Given the description of an element on the screen output the (x, y) to click on. 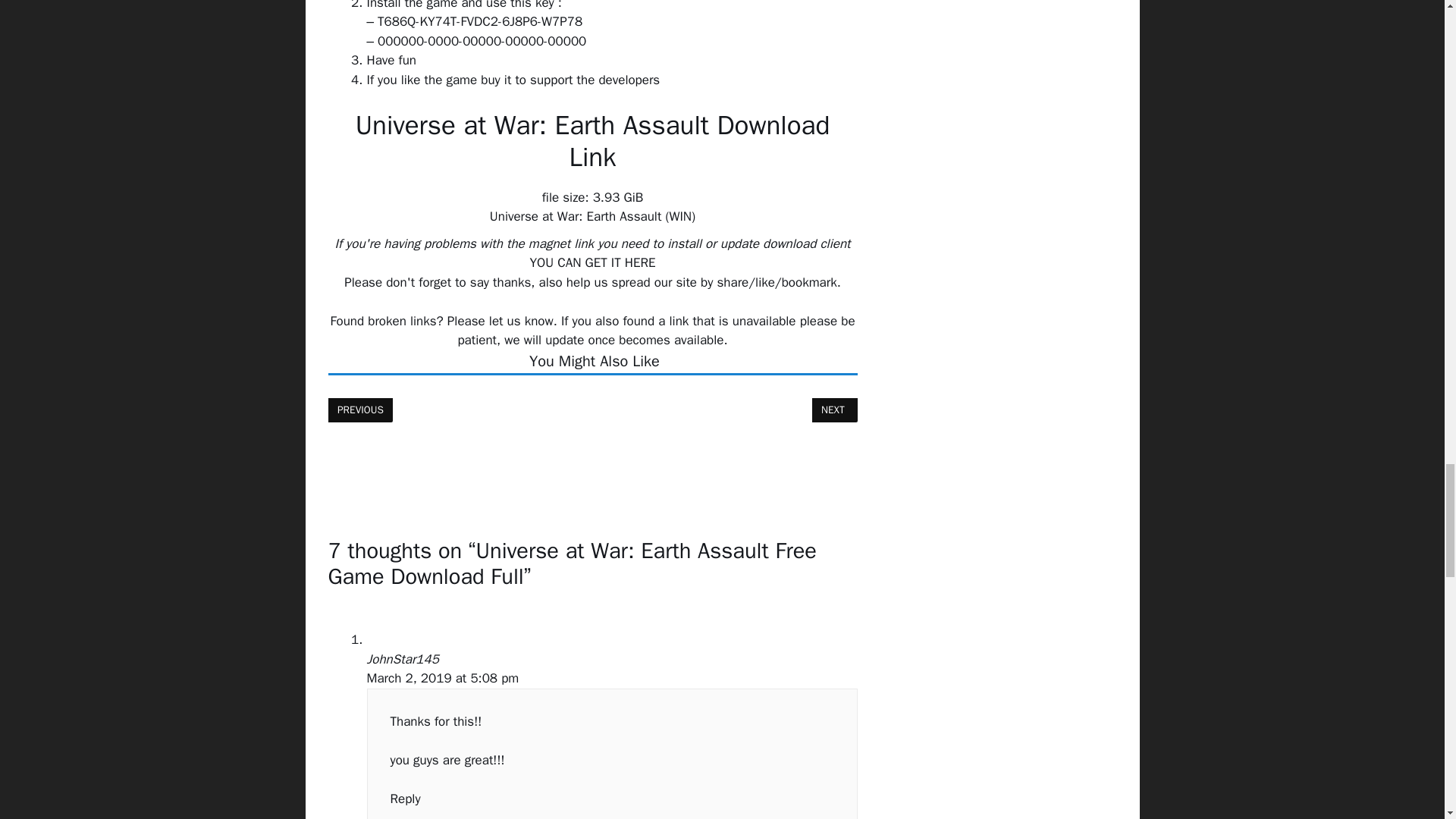
Reply (405, 798)
March 2, 2019 at 5:08 pm (442, 678)
YOU CAN GET IT HERE (459, 456)
